Given the description of an element on the screen output the (x, y) to click on. 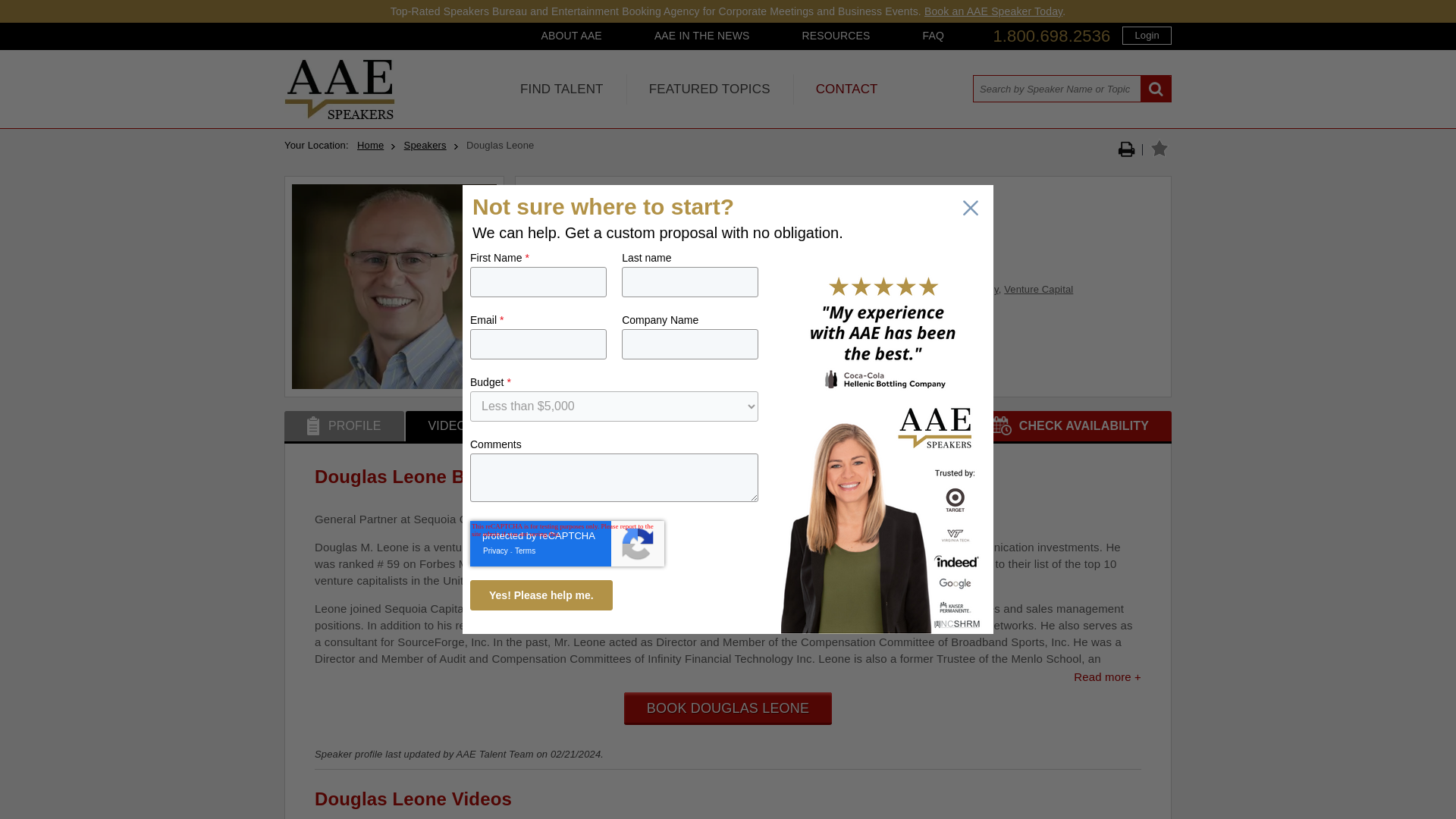
Book an AAE Speaker Today (993, 10)
All American Speakers Bureau and Celebrity Booking Agency (338, 115)
Search (1156, 89)
ABOUT AAE (570, 34)
RESOURCES (836, 34)
Login (1147, 35)
1.800.698.2536 (1050, 35)
AAE IN THE NEWS (702, 34)
FAQ (933, 34)
